Given the description of an element on the screen output the (x, y) to click on. 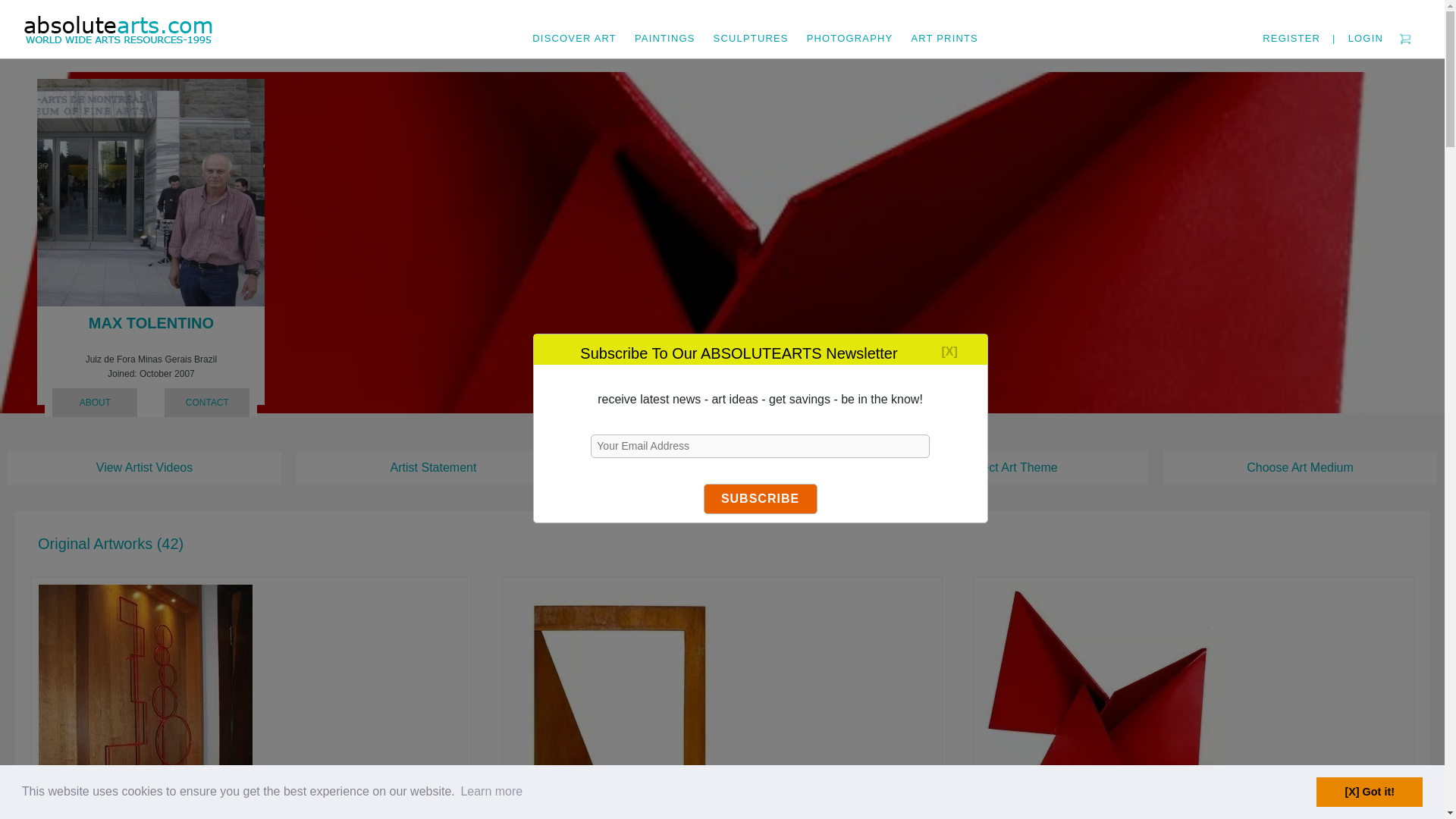
DISCOVER ART (573, 28)
Learn more (491, 791)
PAINTINGS (664, 28)
SCULPTURES (751, 28)
330 X 400 (150, 192)
